Given the description of an element on the screen output the (x, y) to click on. 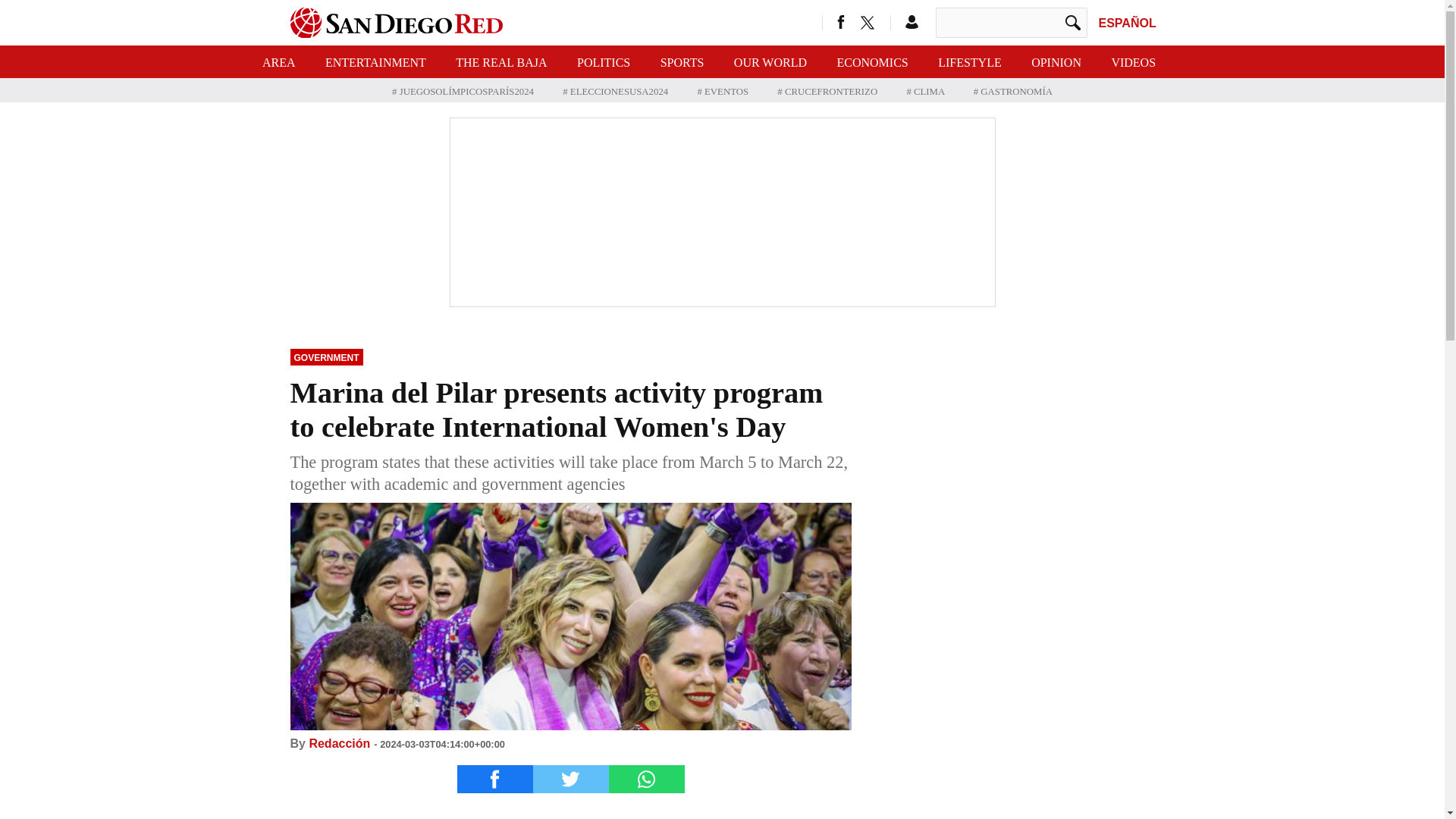
ENTERTAINMENT (375, 60)
AREA (278, 60)
THE REAL BAJA (501, 60)
eventos (724, 91)
clima (925, 91)
CruceFronterizo (828, 91)
EleccionesUSA2024 (615, 91)
